Given the description of an element on the screen output the (x, y) to click on. 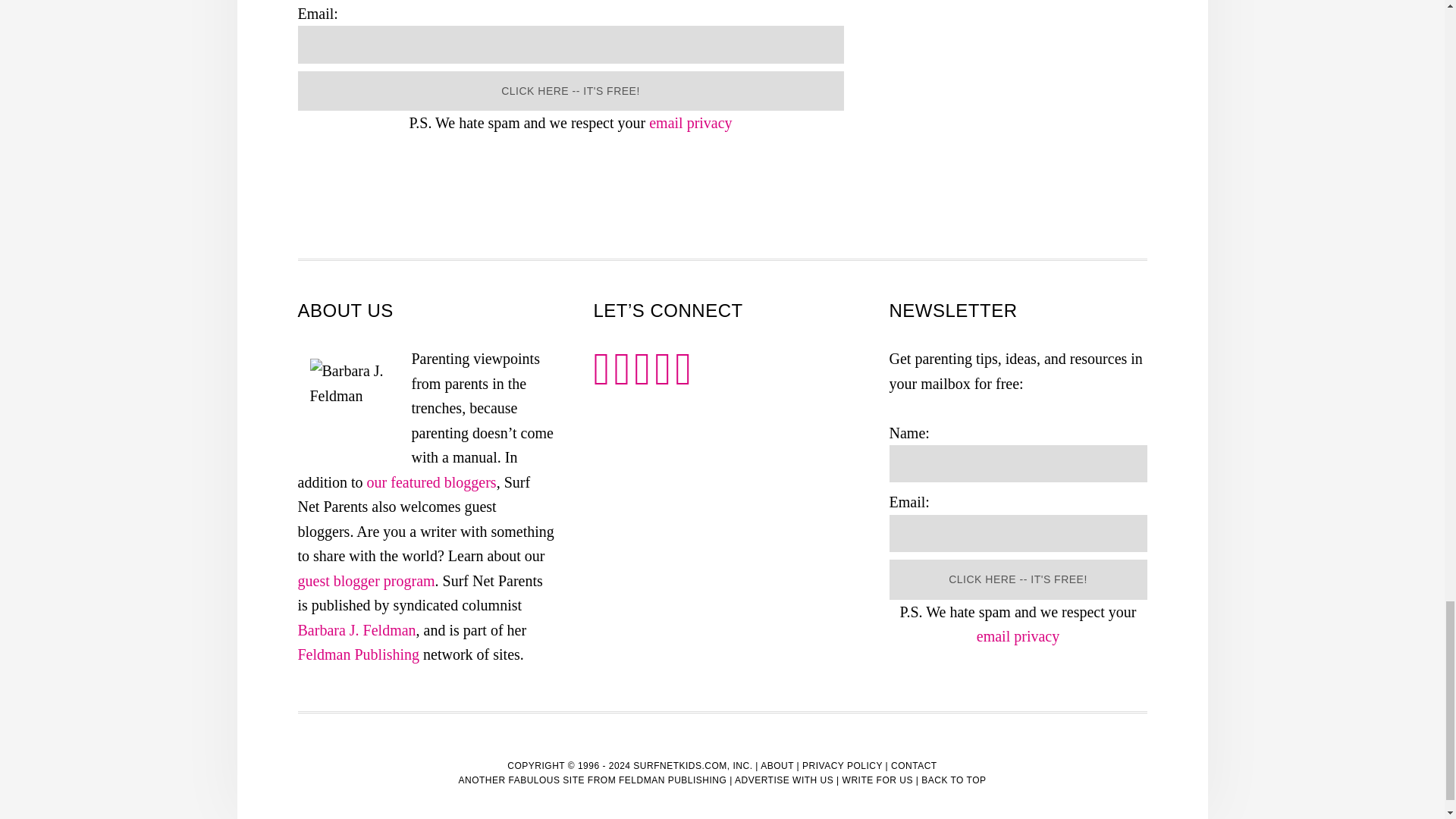
Click Here -- It's Free! (570, 91)
Privacy Policy (1017, 636)
Click Here -- It's Free! (1017, 579)
Privacy Policy (690, 122)
